Given the description of an element on the screen output the (x, y) to click on. 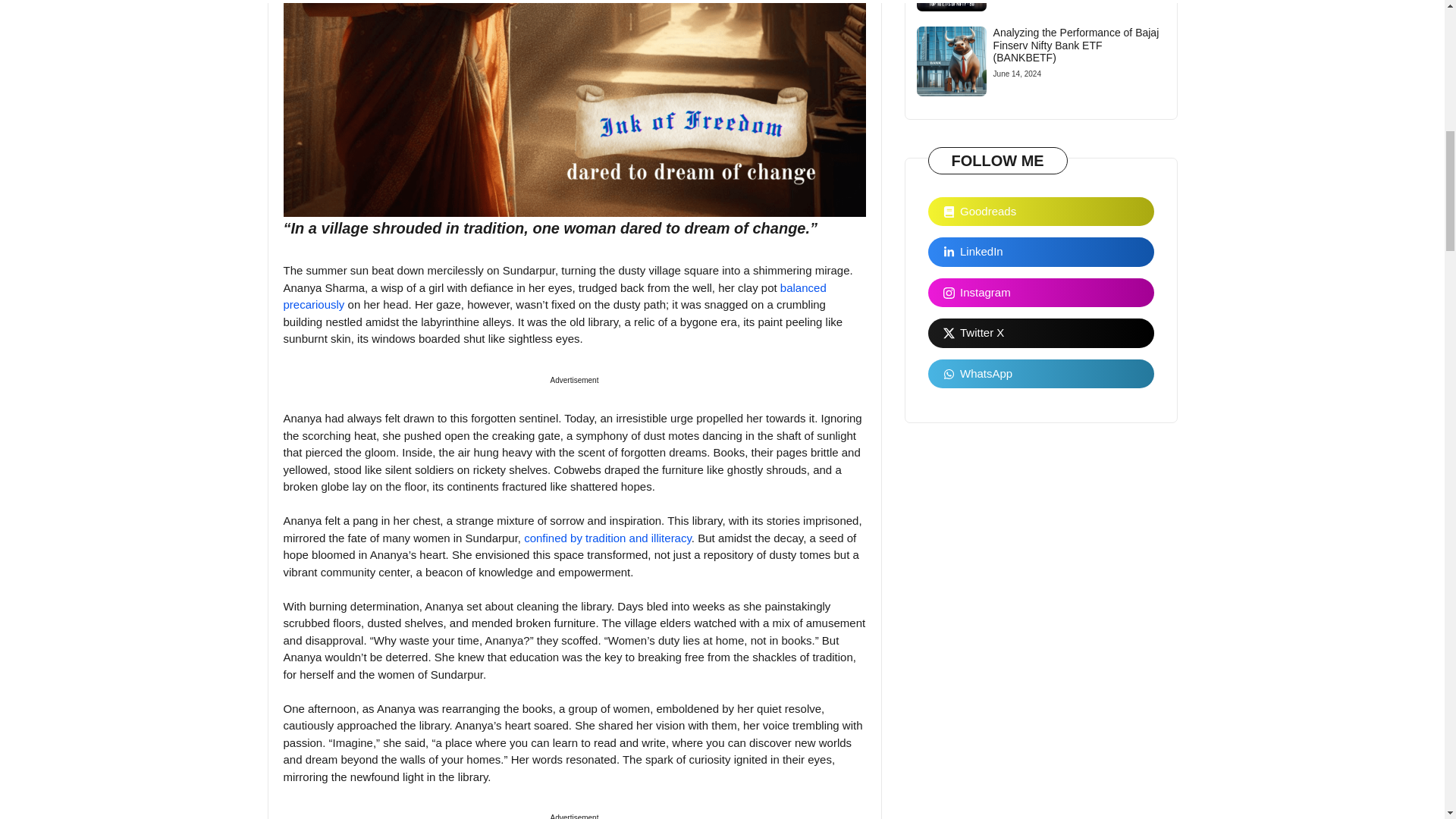
confined by tradition and illiteracy (607, 536)
balanced precariously (555, 295)
